Given the description of an element on the screen output the (x, y) to click on. 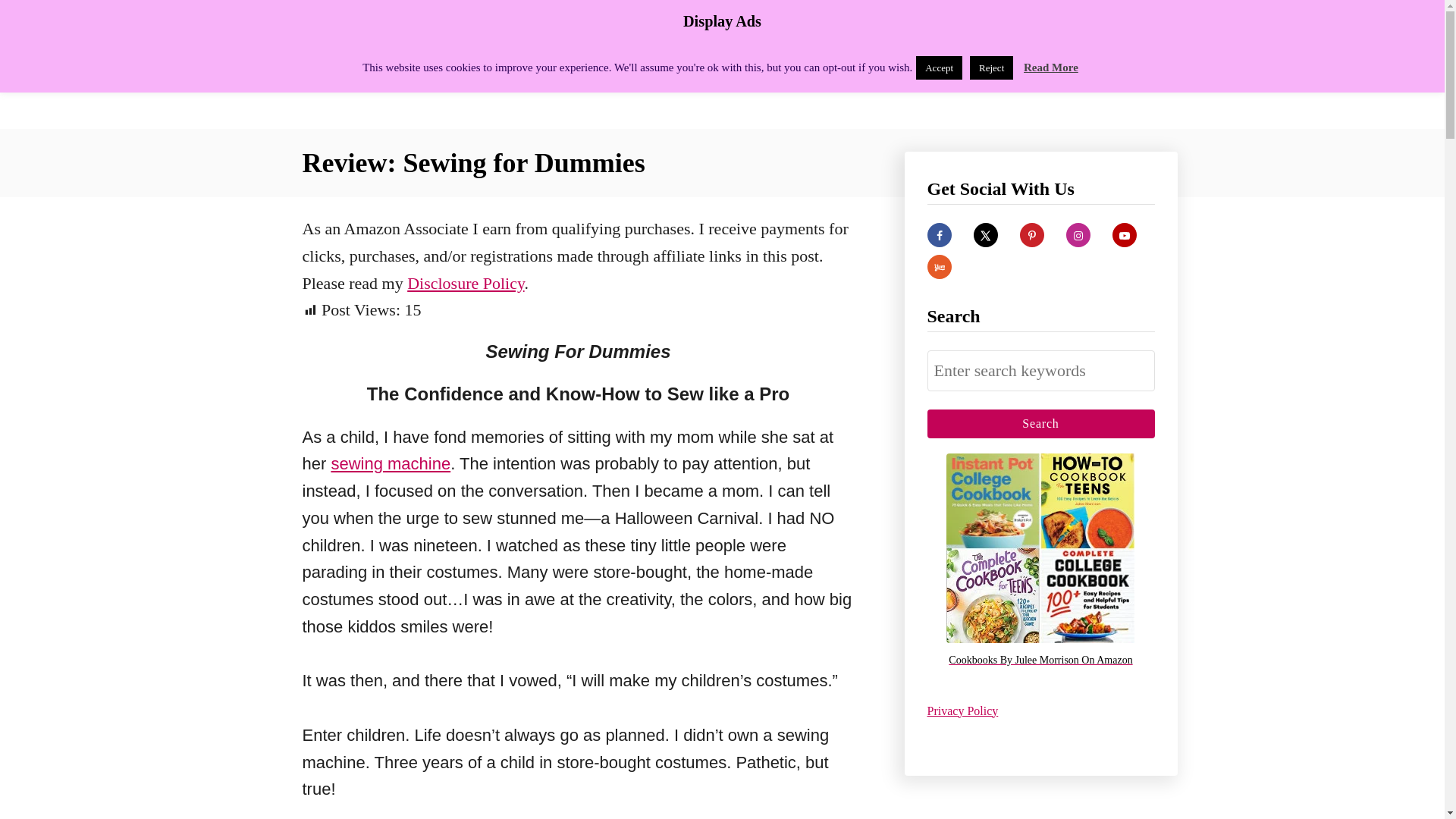
Search (1040, 423)
Mommy's Memorandum (433, 64)
Search for: (1040, 370)
Follow on Pinterest (1031, 234)
Reject (991, 67)
Read More (1050, 67)
Privacy Policy (961, 709)
Search (1040, 423)
Follow on Instagram (1077, 234)
Cookbooks By Julee Morrison On Amazon (1040, 660)
Accept (938, 67)
Disclosure Policy (465, 281)
sewing machine (389, 463)
Follow on X (985, 234)
Search (1040, 423)
